Given the description of an element on the screen output the (x, y) to click on. 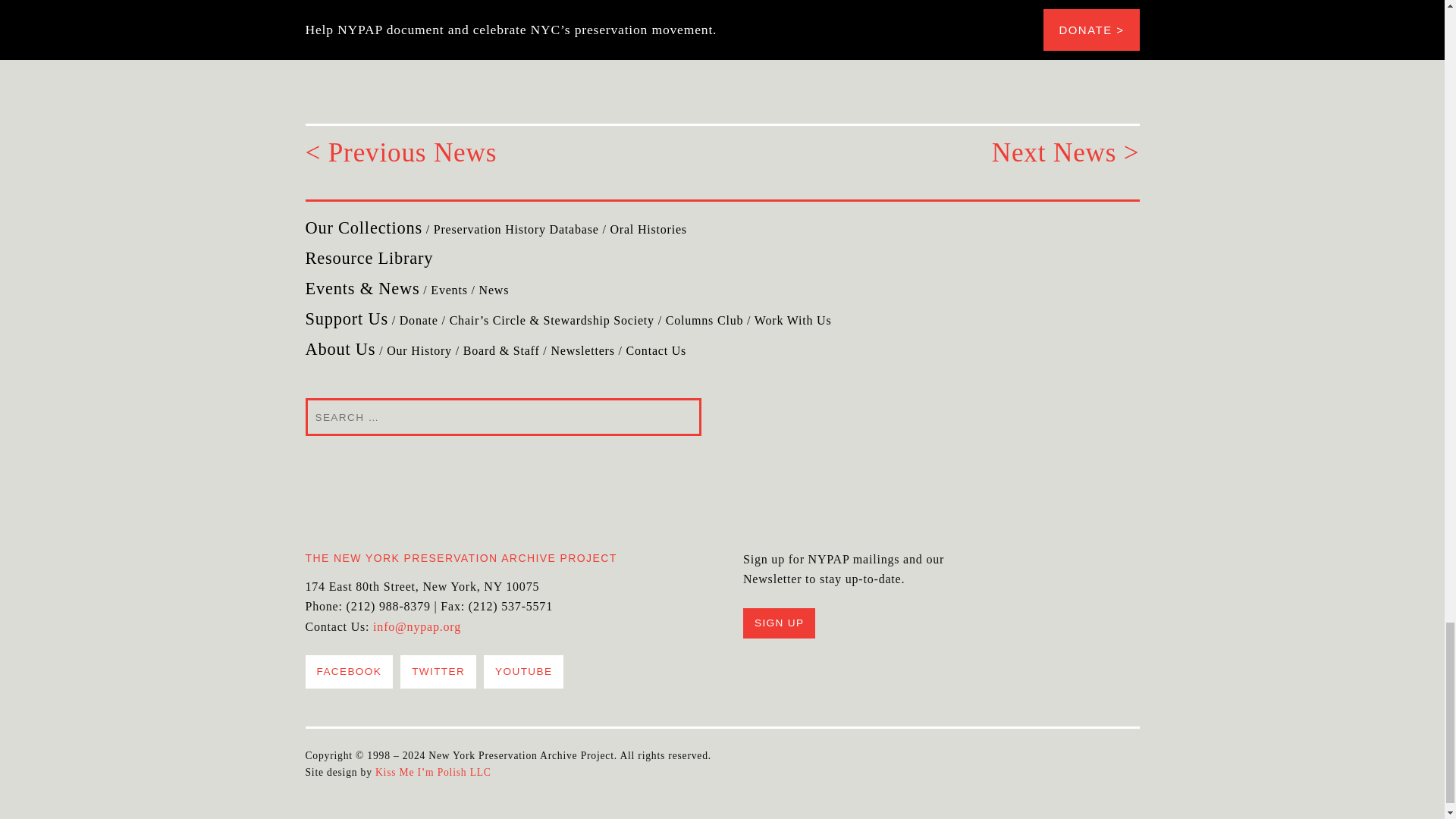
Our History (419, 350)
Preservation History Database (515, 228)
Oral Histories (647, 228)
About Us (339, 348)
Donate (418, 319)
News (494, 289)
Resource Library (368, 257)
Work With Us (792, 319)
Newsletters (582, 350)
